Given the description of an element on the screen output the (x, y) to click on. 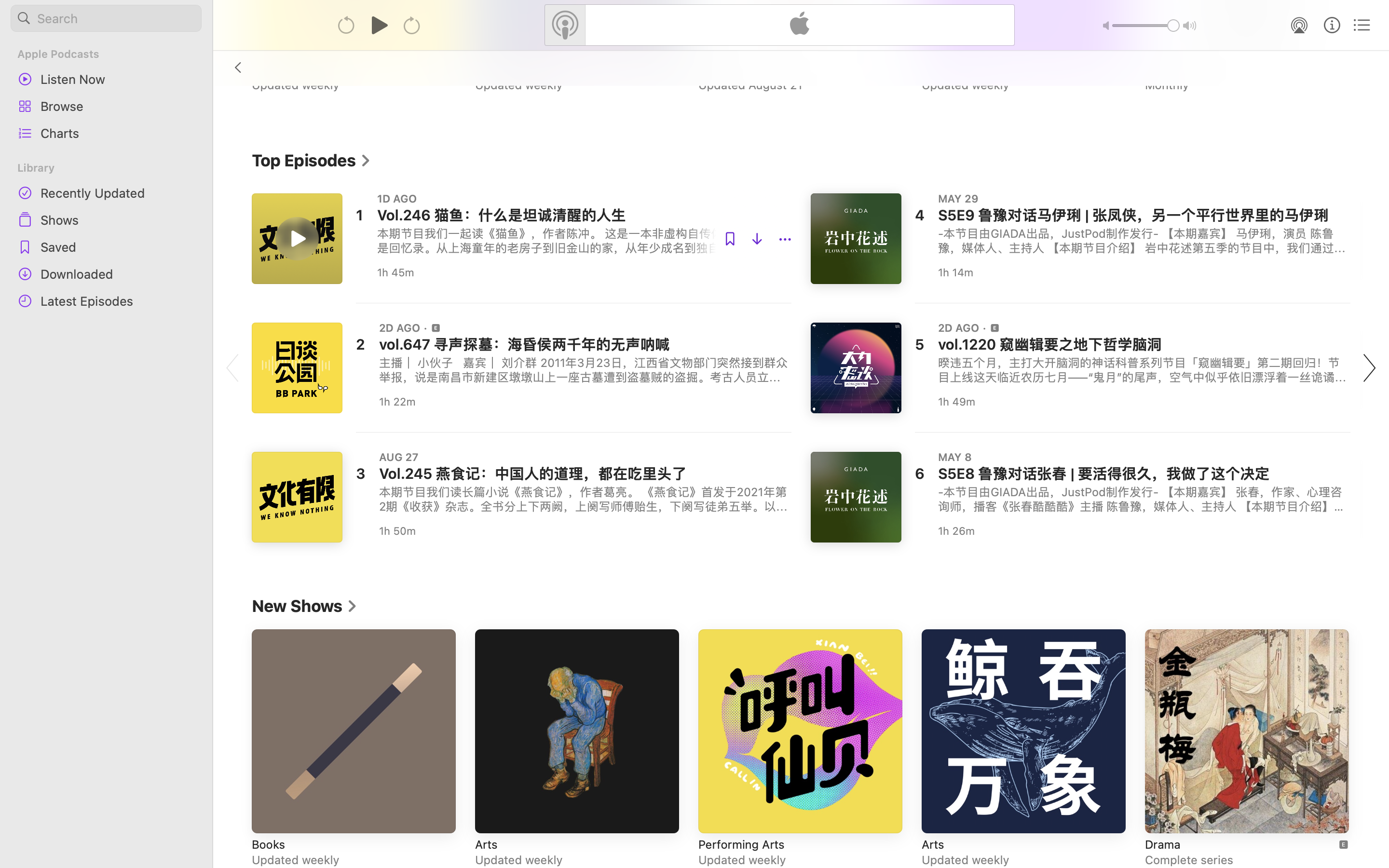
1.0 Element type: AXSlider (1145, 25)
